Given the description of an element on the screen output the (x, y) to click on. 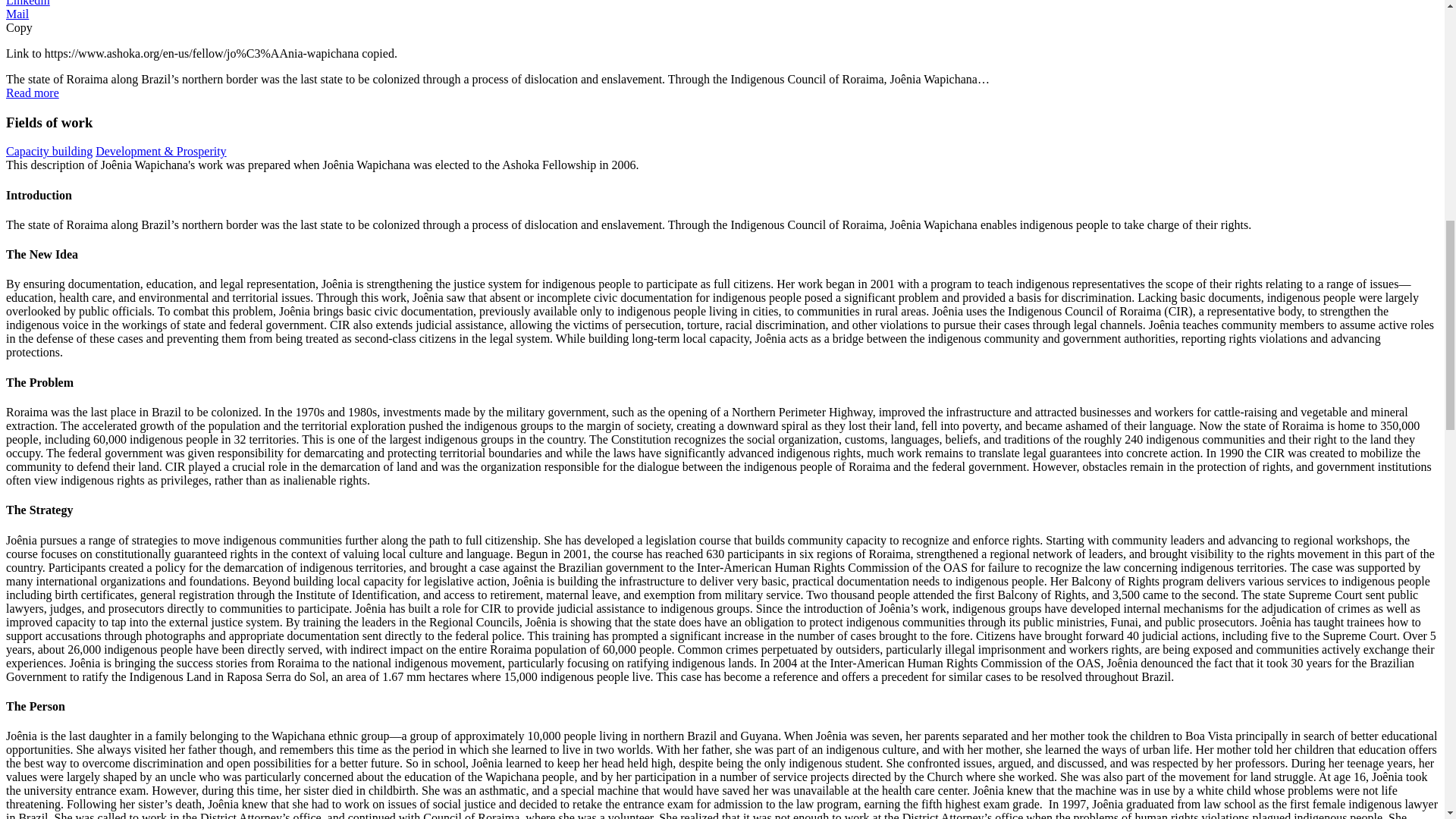
Mail (17, 13)
Copy (18, 27)
Linkedin (27, 3)
